Given the description of an element on the screen output the (x, y) to click on. 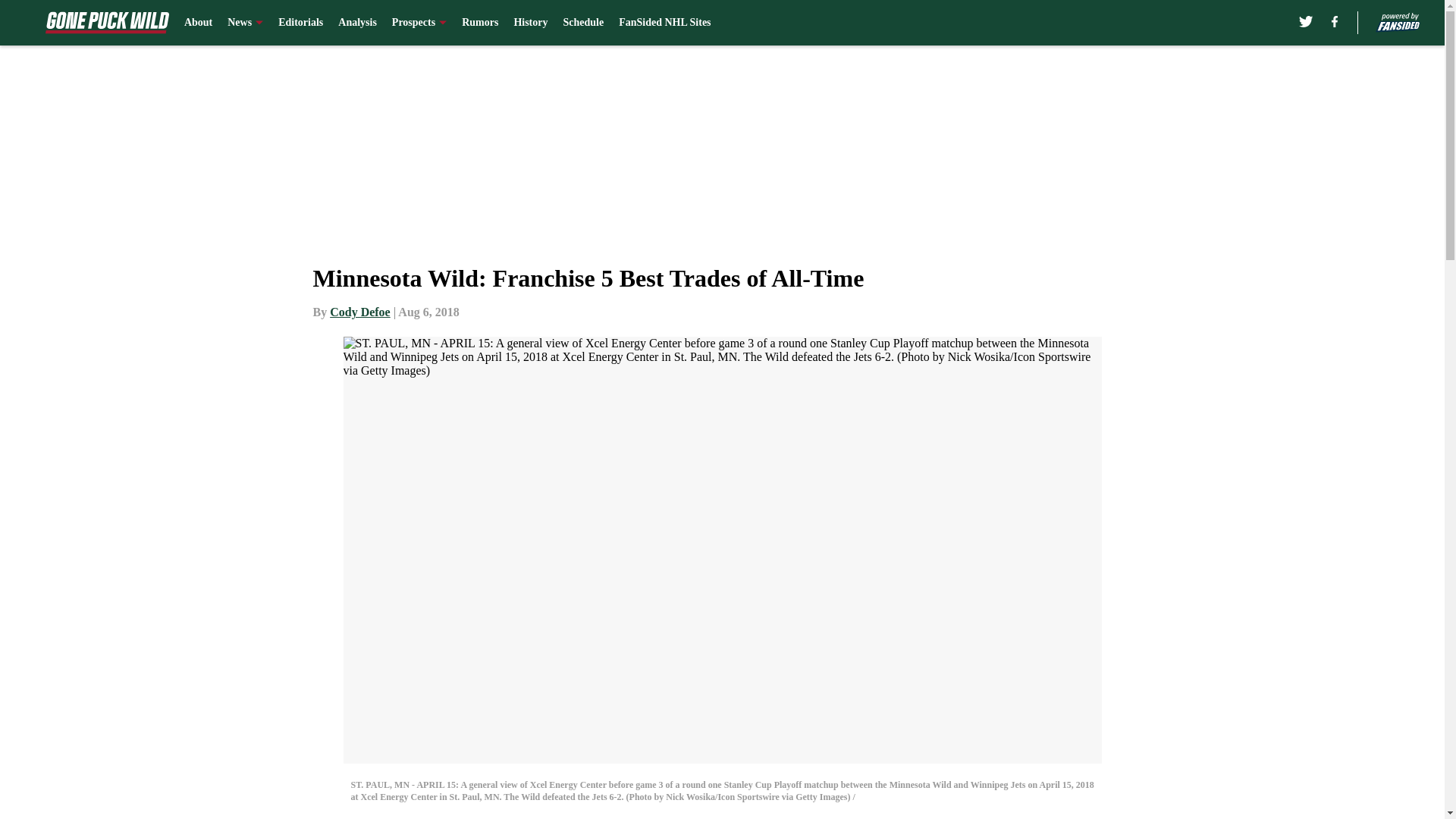
FanSided NHL Sites (664, 22)
Editorials (300, 22)
History (530, 22)
Cody Defoe (360, 311)
About (198, 22)
Rumors (479, 22)
Schedule (583, 22)
Analysis (357, 22)
